Given the description of an element on the screen output the (x, y) to click on. 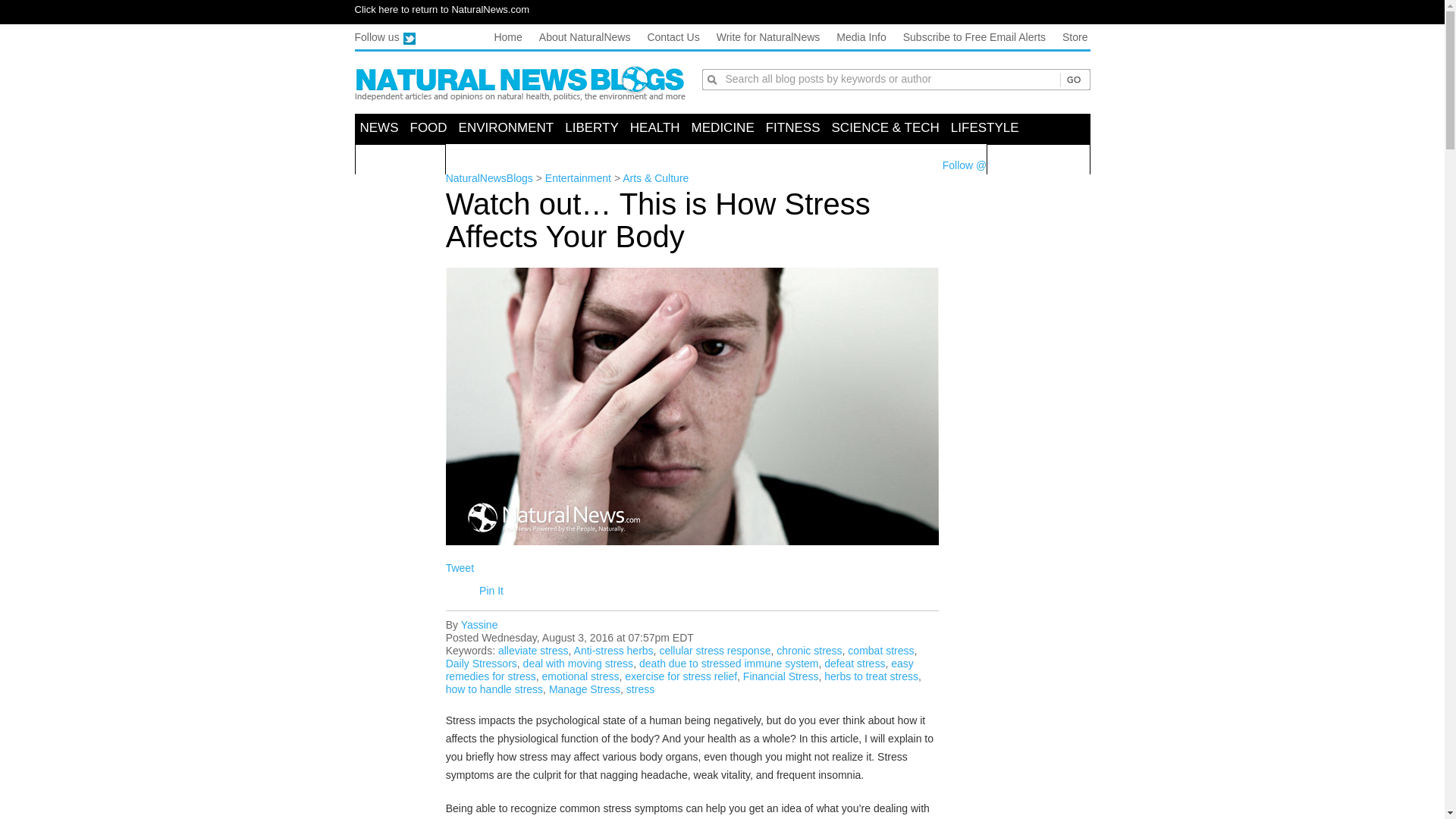
go (1071, 79)
Search all blog posts by keywords or author (891, 78)
Store (1074, 37)
Subscribe to Free Email Alerts (973, 37)
Go to NaturalNewsBlogs. (488, 177)
Go to the Entertainment category archives. (577, 177)
Home (507, 37)
Click here to return to NaturalNews.com (442, 9)
NaturalNewsBlogs (520, 82)
Contact Us (672, 37)
About NaturalNews (584, 37)
go (1071, 79)
Write for NaturalNews (768, 37)
Media Info (860, 37)
